Given the description of an element on the screen output the (x, y) to click on. 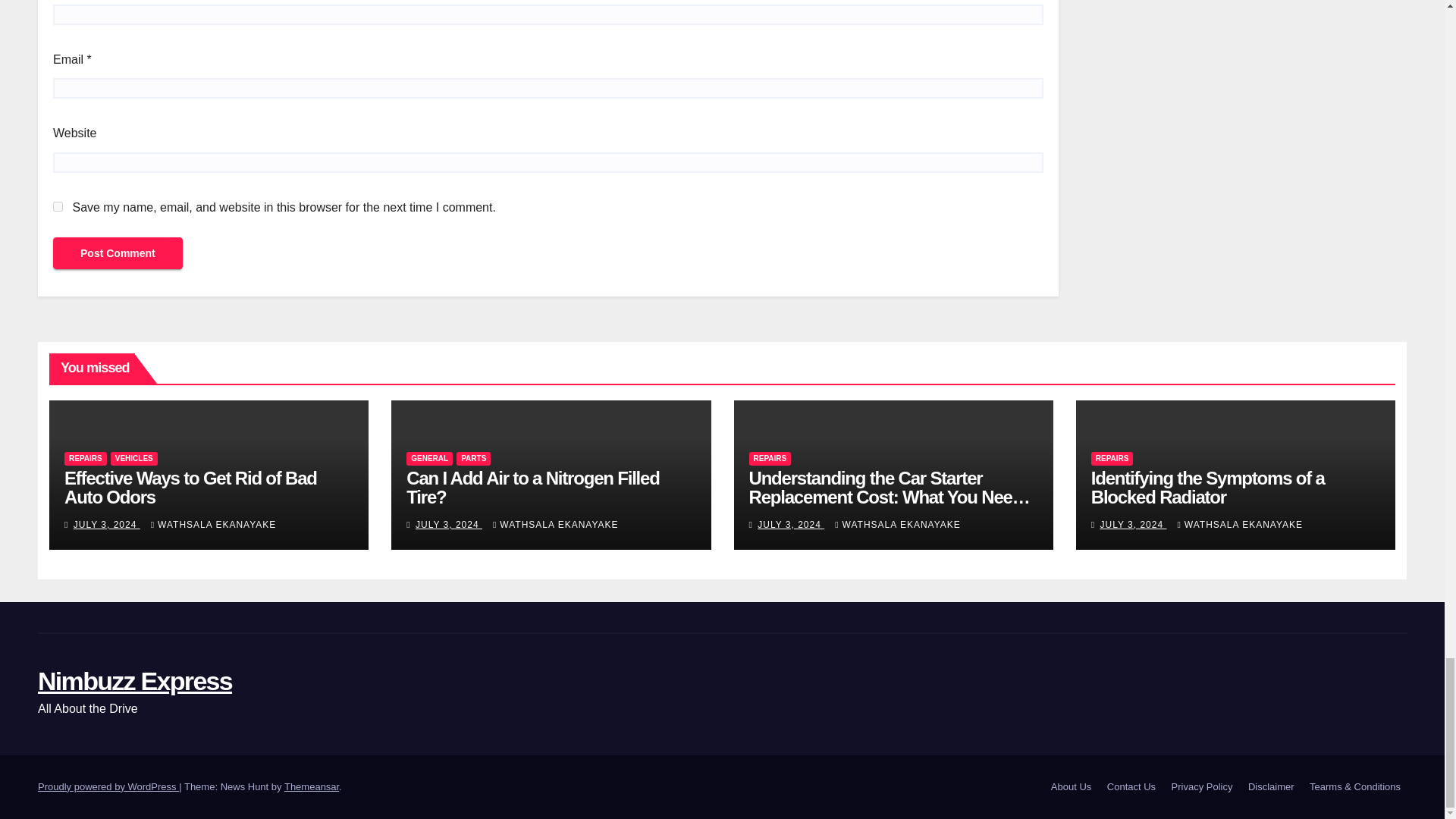
Contact Us (1130, 786)
About Us (1071, 786)
Privacy Policy (1202, 786)
Disclaimer (1270, 786)
yes (57, 206)
Permalink to: Identifying the Symptoms of a Blocked Radiator (1207, 486)
Post Comment (117, 253)
Permalink to: Can I Add Air to a Nitrogen Filled Tire? (532, 486)
Permalink to: Effective Ways to Get Rid of Bad Auto Odors (190, 486)
